Given the description of an element on the screen output the (x, y) to click on. 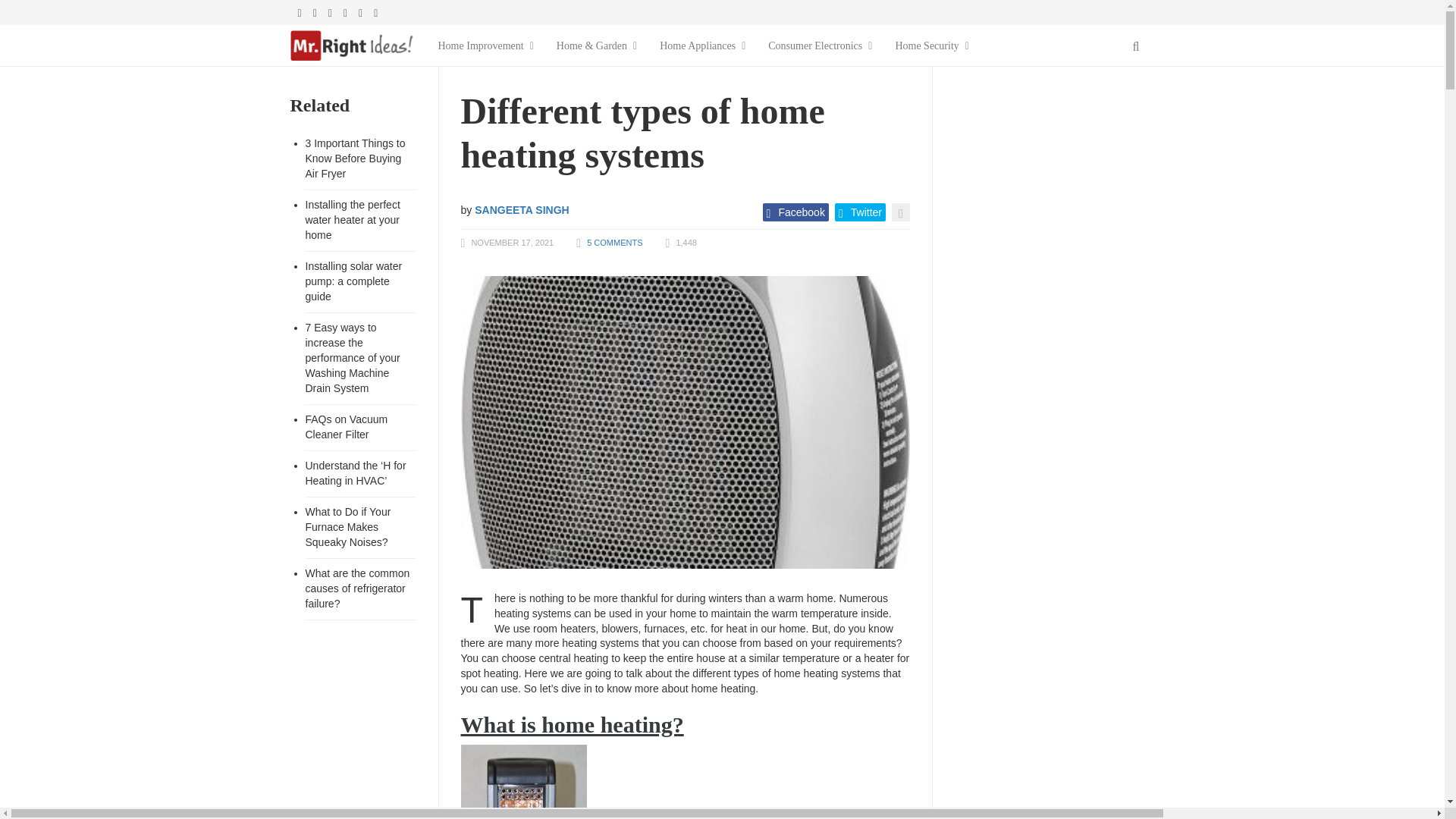
Home Improvement (486, 45)
Home Improvement (486, 45)
